Given the description of an element on the screen output the (x, y) to click on. 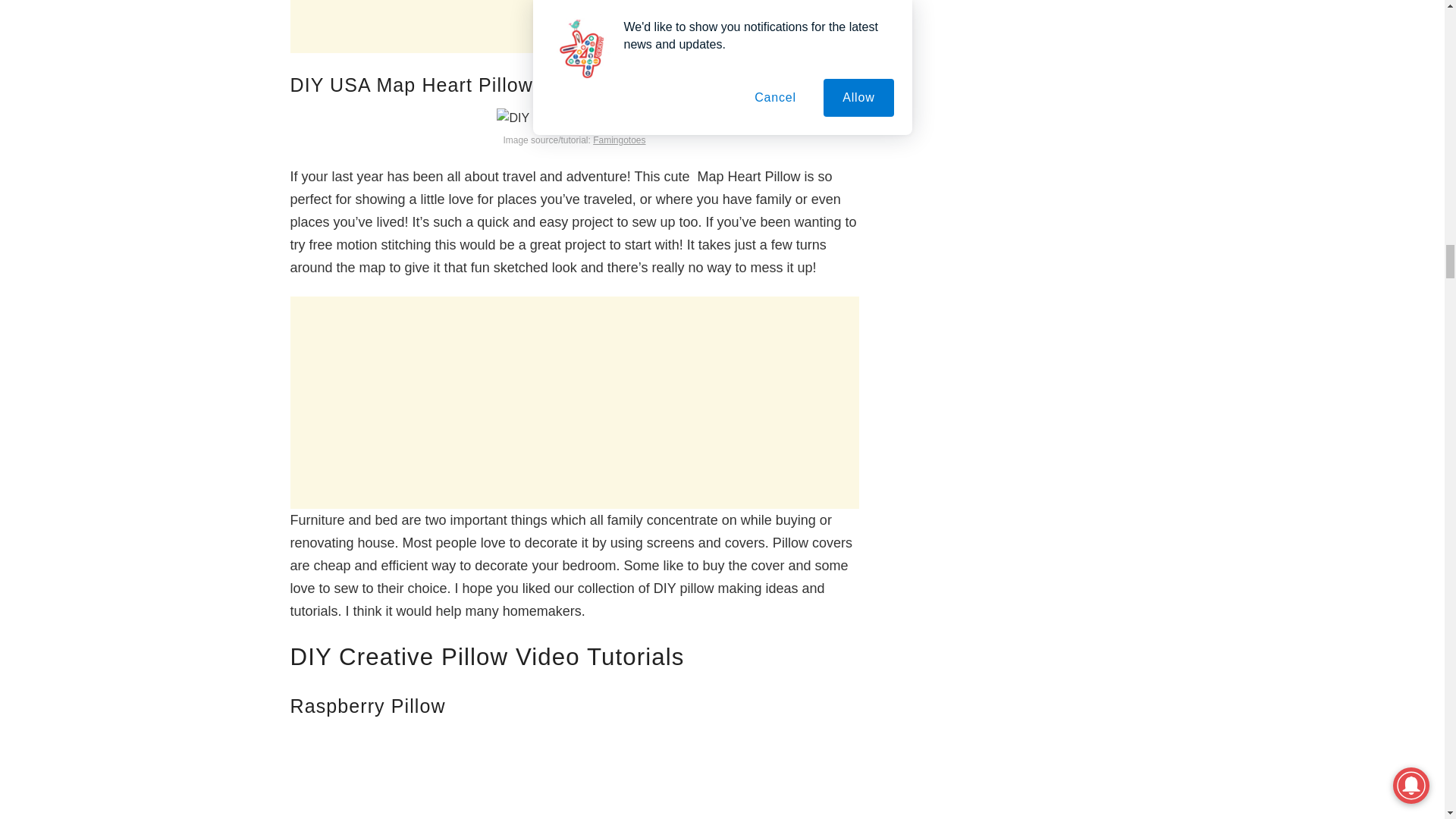
How to sew a pillow raspberries. Cute room decor. DIY. (574, 773)
